Given the description of an element on the screen output the (x, y) to click on. 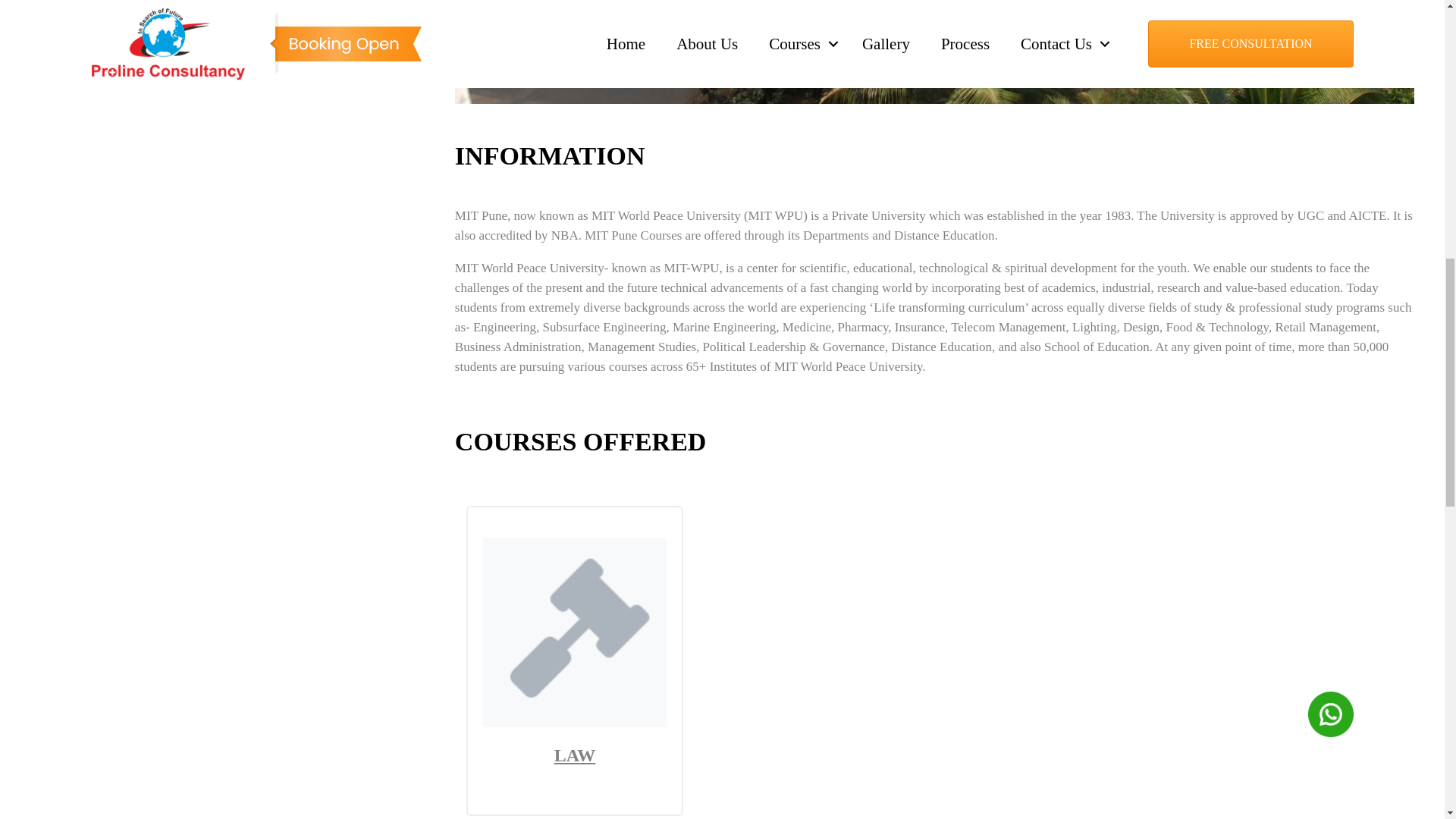
LAW (574, 754)
LAW (574, 722)
LAW (574, 754)
